Given the description of an element on the screen output the (x, y) to click on. 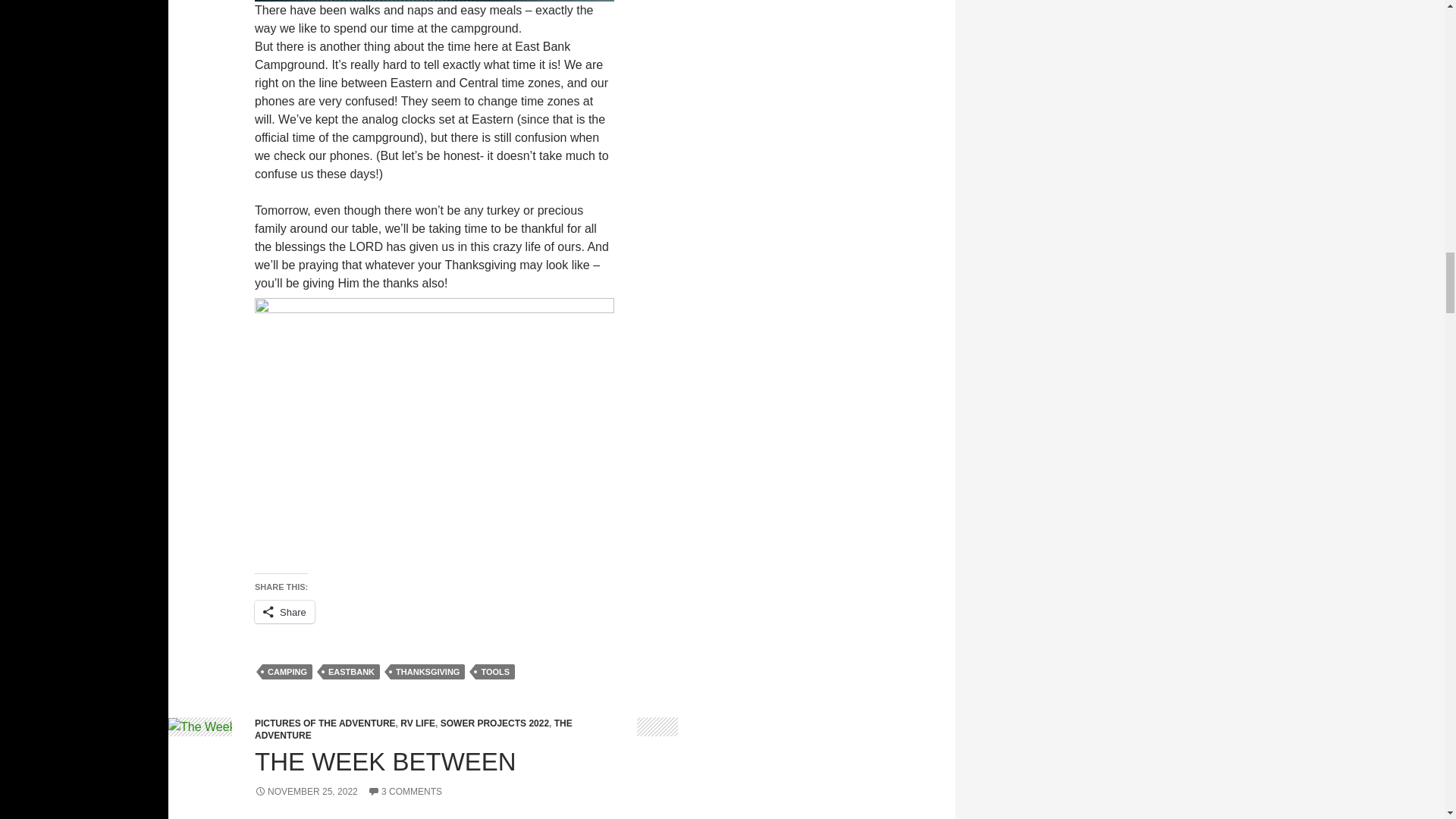
EASTBANK (351, 671)
PICTURES OF THE ADVENTURE (325, 723)
THANKSGIVING (427, 671)
RV LIFE (417, 723)
CAMPING (287, 671)
Share (284, 611)
TOOLS (495, 671)
